Given the description of an element on the screen output the (x, y) to click on. 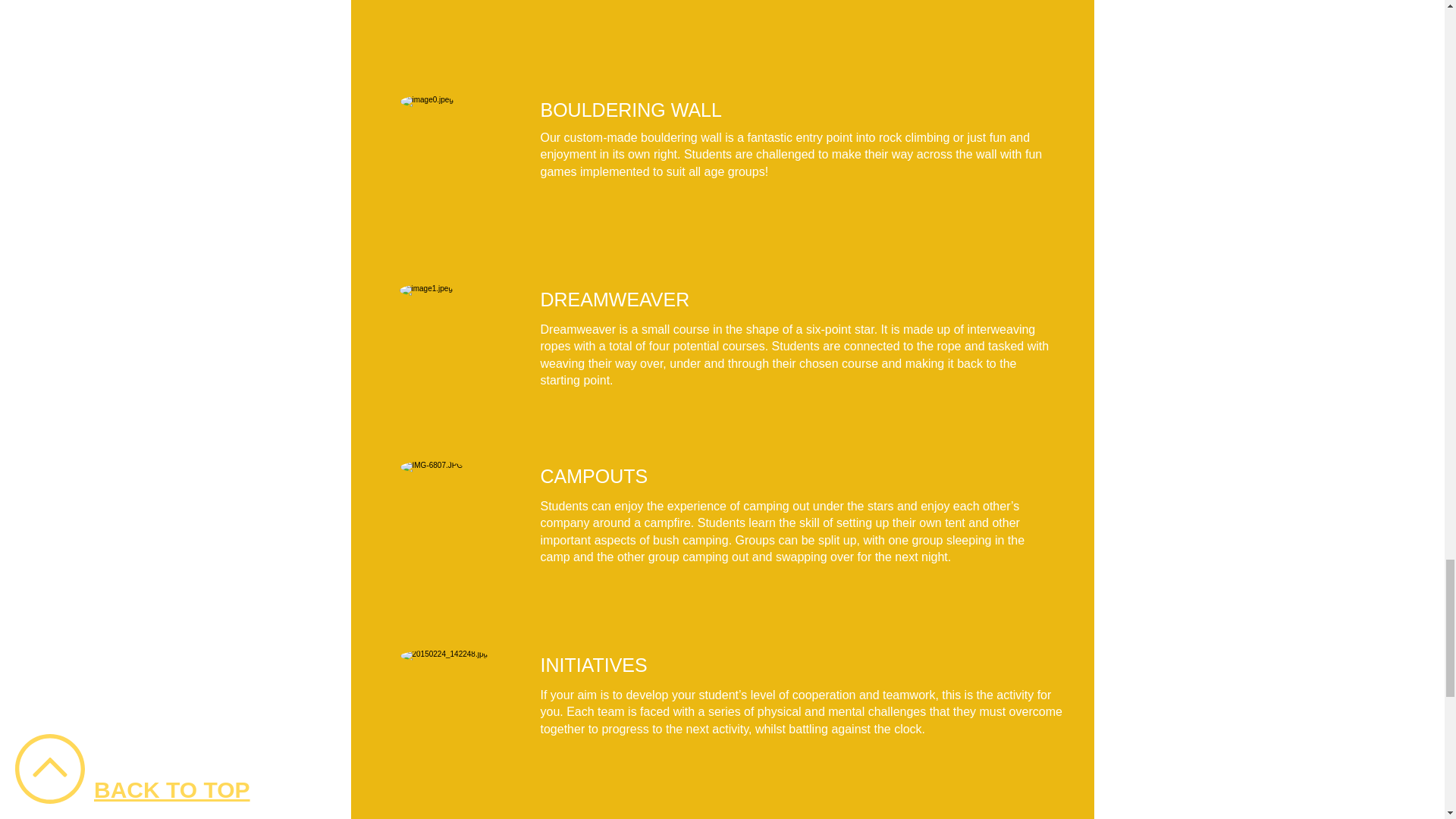
Canoeing.jpeg (458, 14)
Canoeing.jpeg (459, 520)
Canoeing.jpeg (459, 155)
Canoeing.jpeg (459, 709)
Canoeing.jpeg (458, 344)
